Given the description of an element on the screen output the (x, y) to click on. 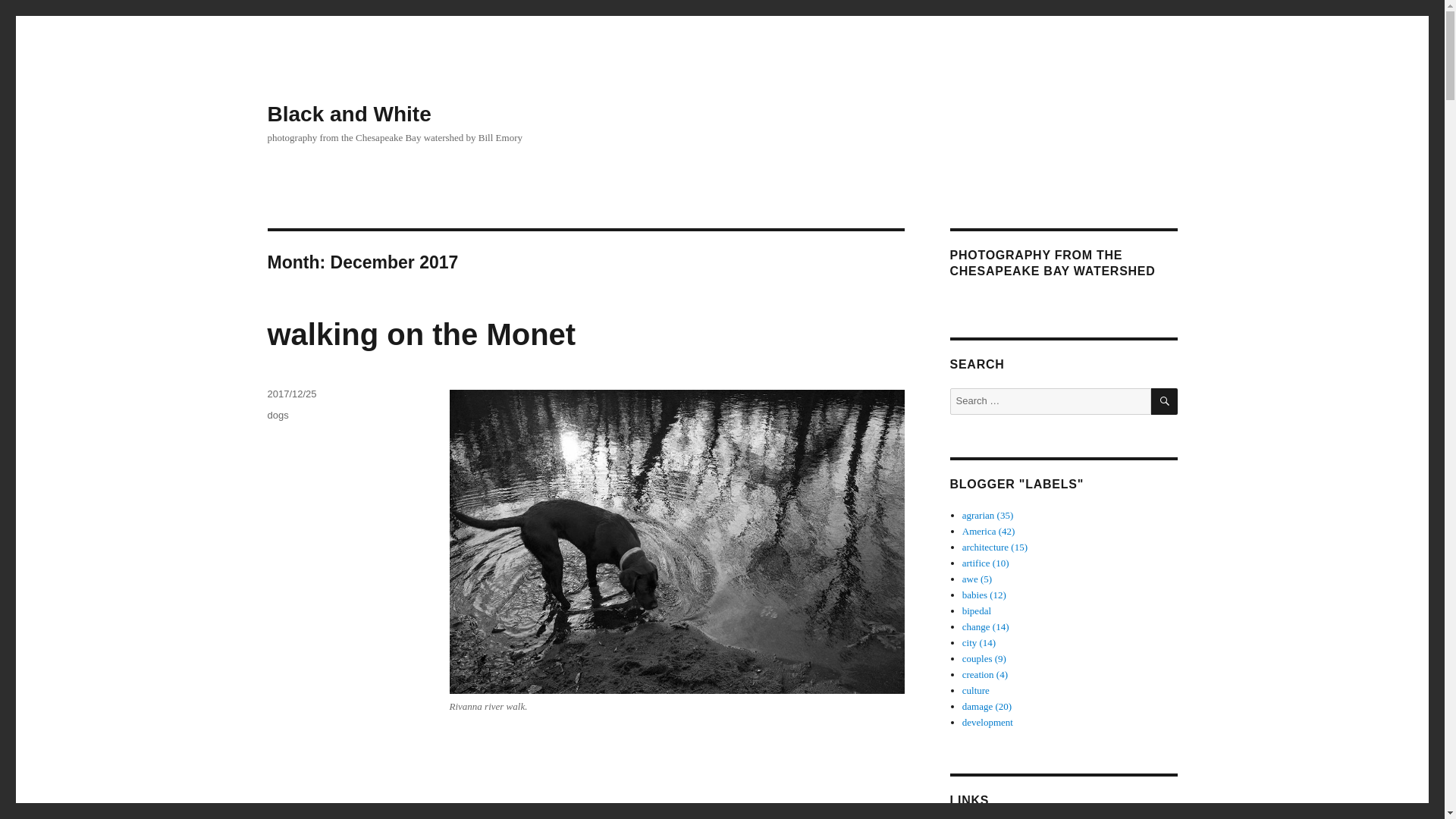
what God made (984, 674)
what developers do (987, 722)
walking on the Monet (420, 334)
dogs (277, 414)
two of something (984, 658)
Black and White (348, 114)
